Given the description of an element on the screen output the (x, y) to click on. 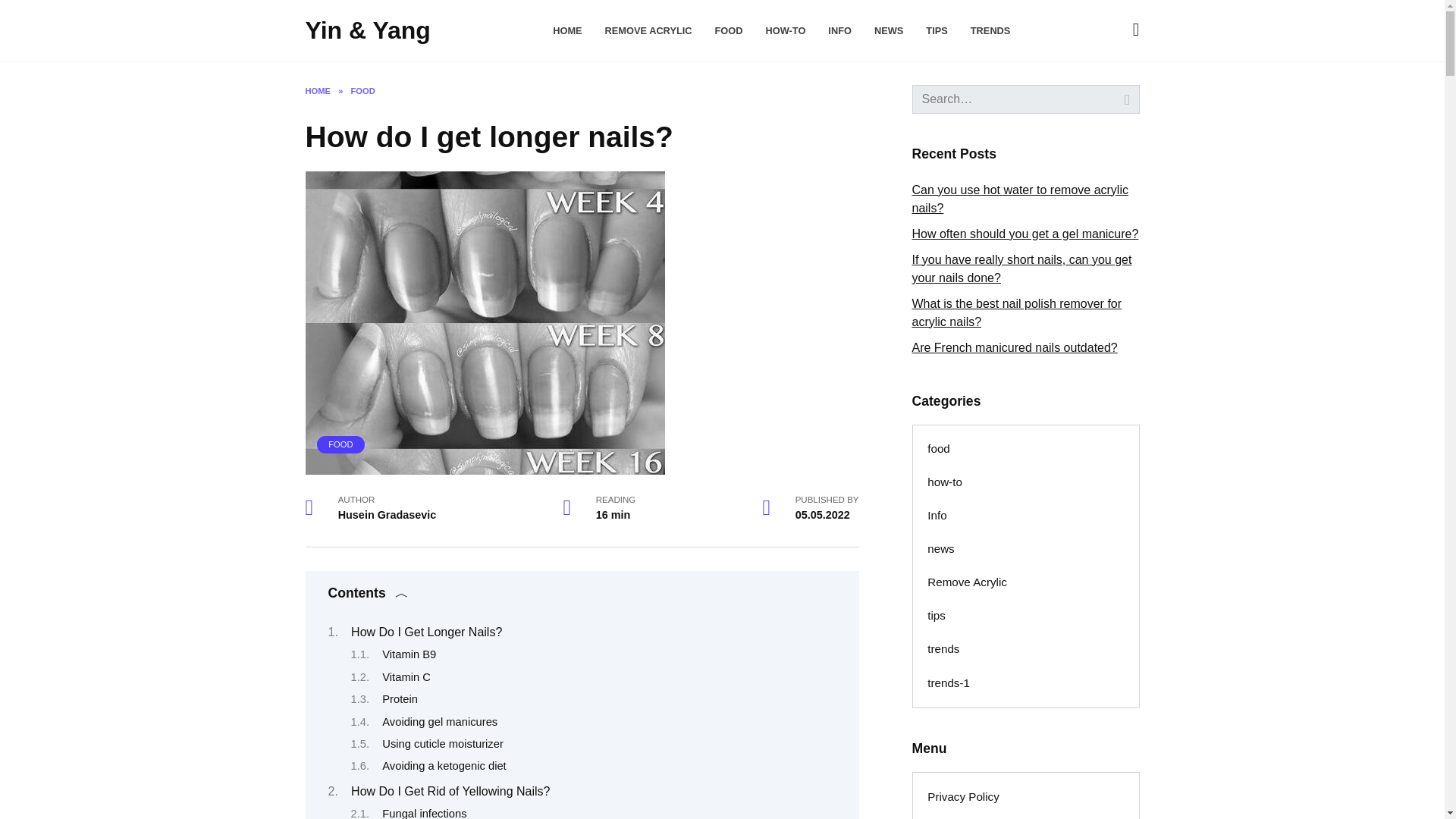
HOME (317, 90)
TIPS (936, 30)
Vitamin B9 (408, 654)
FOOD (728, 30)
how-to (944, 482)
How often should you get a gel manicure? (1024, 233)
REMOVE ACRYLIC (649, 30)
INFO (839, 30)
Using cuticle moisturizer (442, 743)
Avoiding gel manicures (439, 721)
Protein (399, 698)
FOOD (362, 90)
FOOD (340, 443)
If you have really short nails, can you get your nails done? (1021, 268)
How Do I Get Rid of Yellowing Nails? (450, 790)
